Given the description of an element on the screen output the (x, y) to click on. 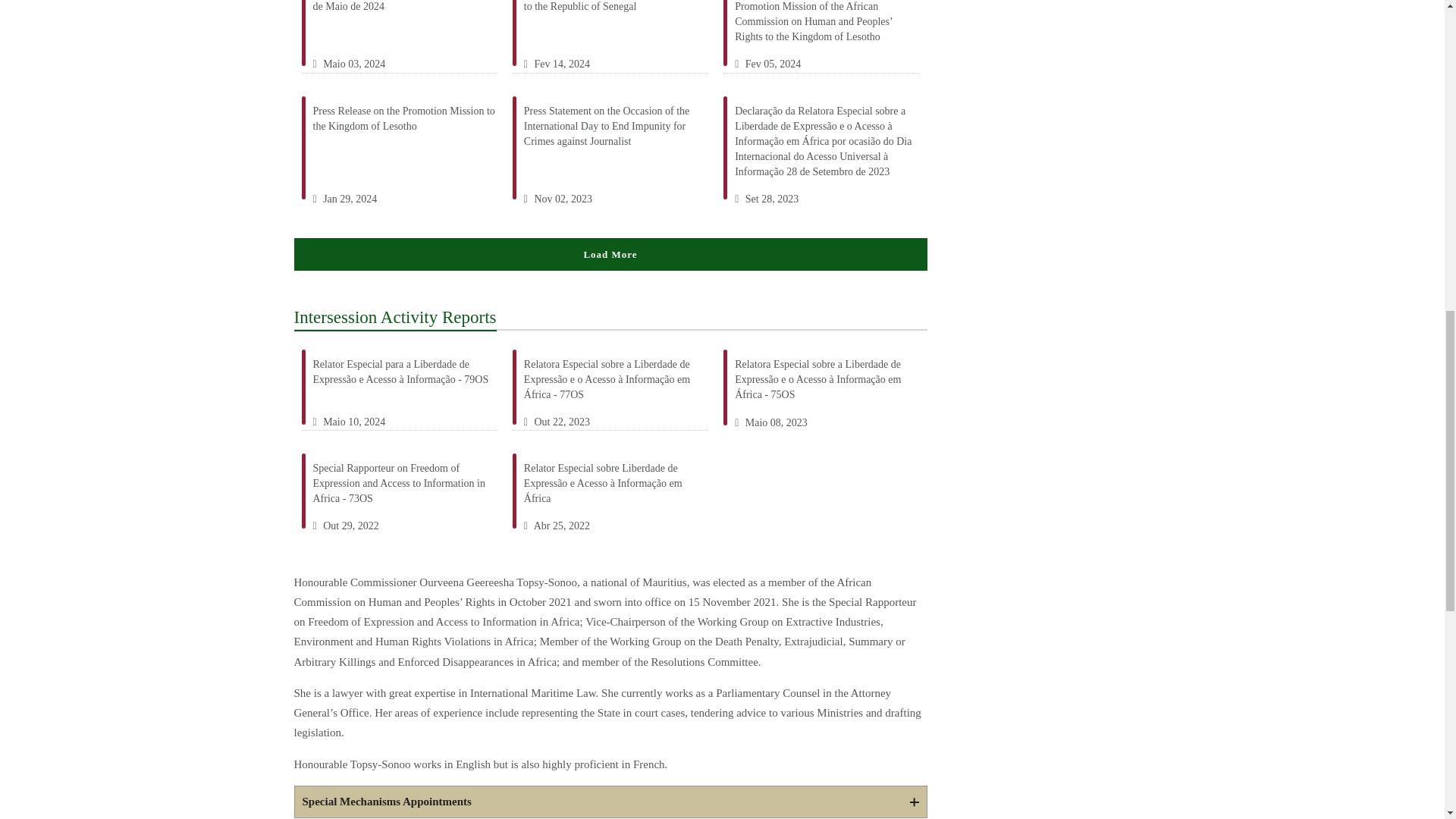
Load More (610, 254)
